Given the description of an element on the screen output the (x, y) to click on. 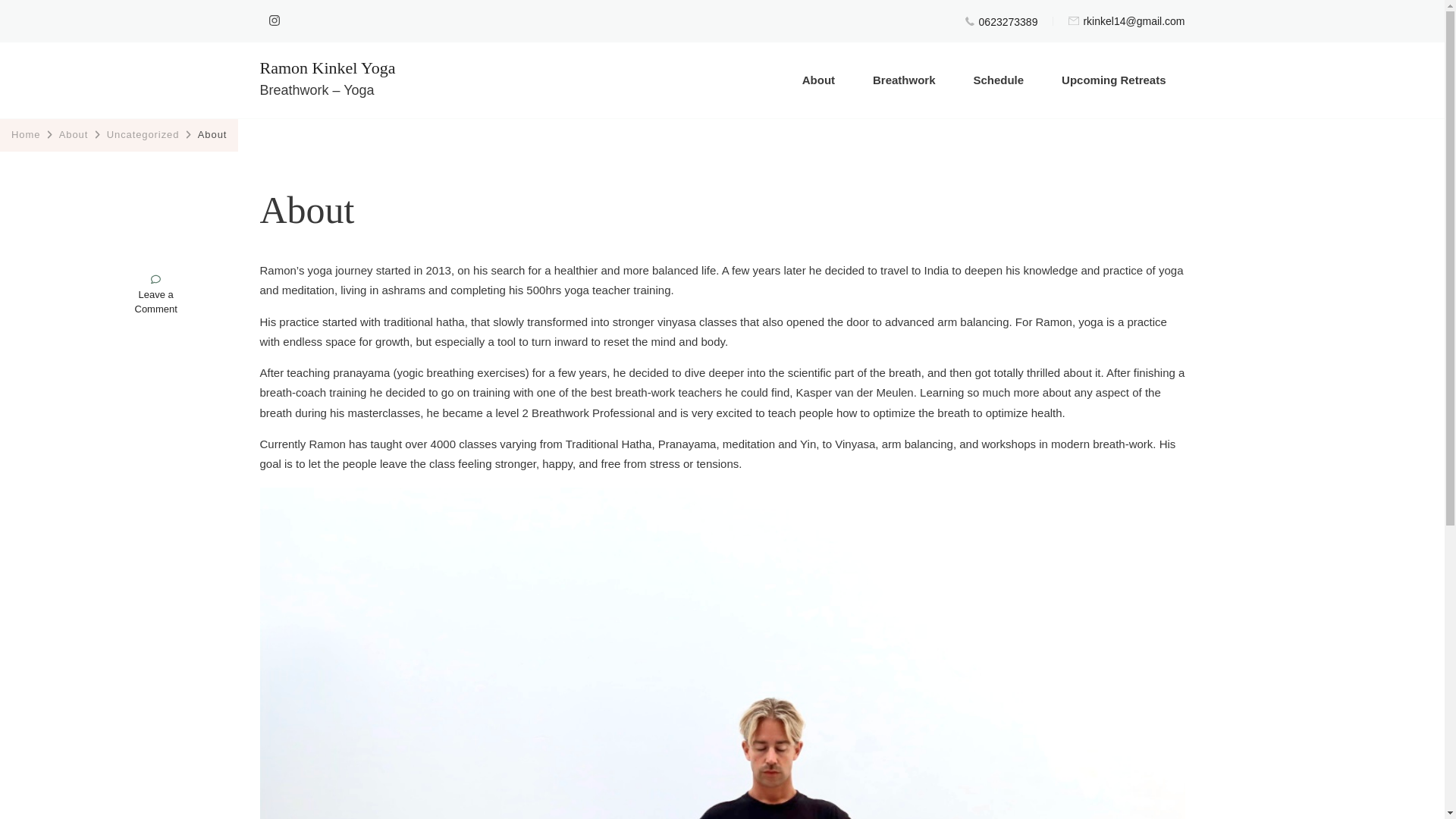
0623273389 (1008, 21)
Schedule (997, 80)
Home (25, 134)
About (818, 80)
About (73, 134)
Uncategorized (156, 301)
Ramon Kinkel Yoga (142, 134)
Breathwork (326, 68)
Upcoming Retreats (903, 80)
